Given the description of an element on the screen output the (x, y) to click on. 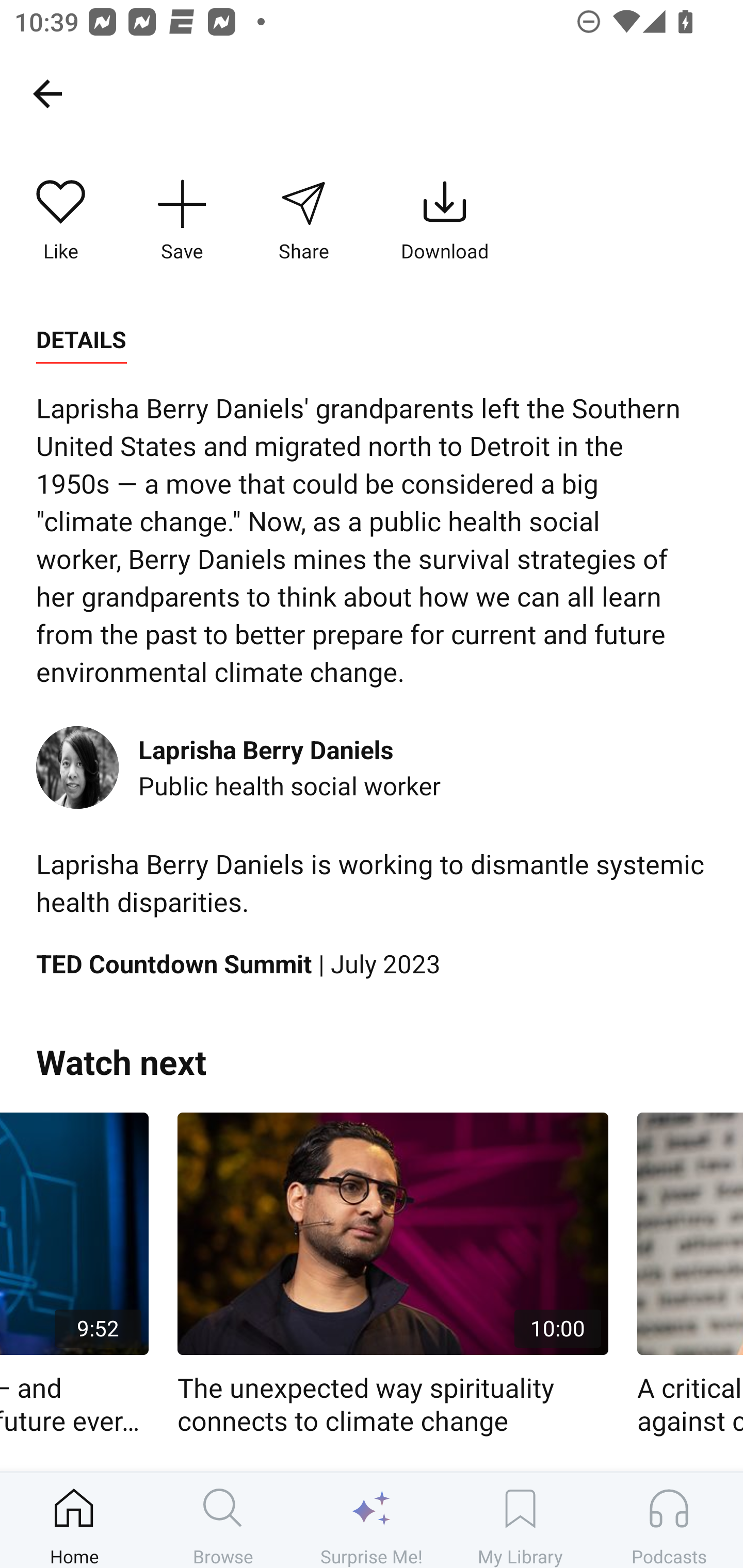
Home, back (47, 92)
Like (60, 220)
Save (181, 220)
Share (302, 220)
Download (444, 220)
DETAILS (80, 339)
Home (74, 1520)
Browse (222, 1520)
Surprise Me! (371, 1520)
My Library (519, 1520)
Podcasts (668, 1520)
